Given the description of an element on the screen output the (x, y) to click on. 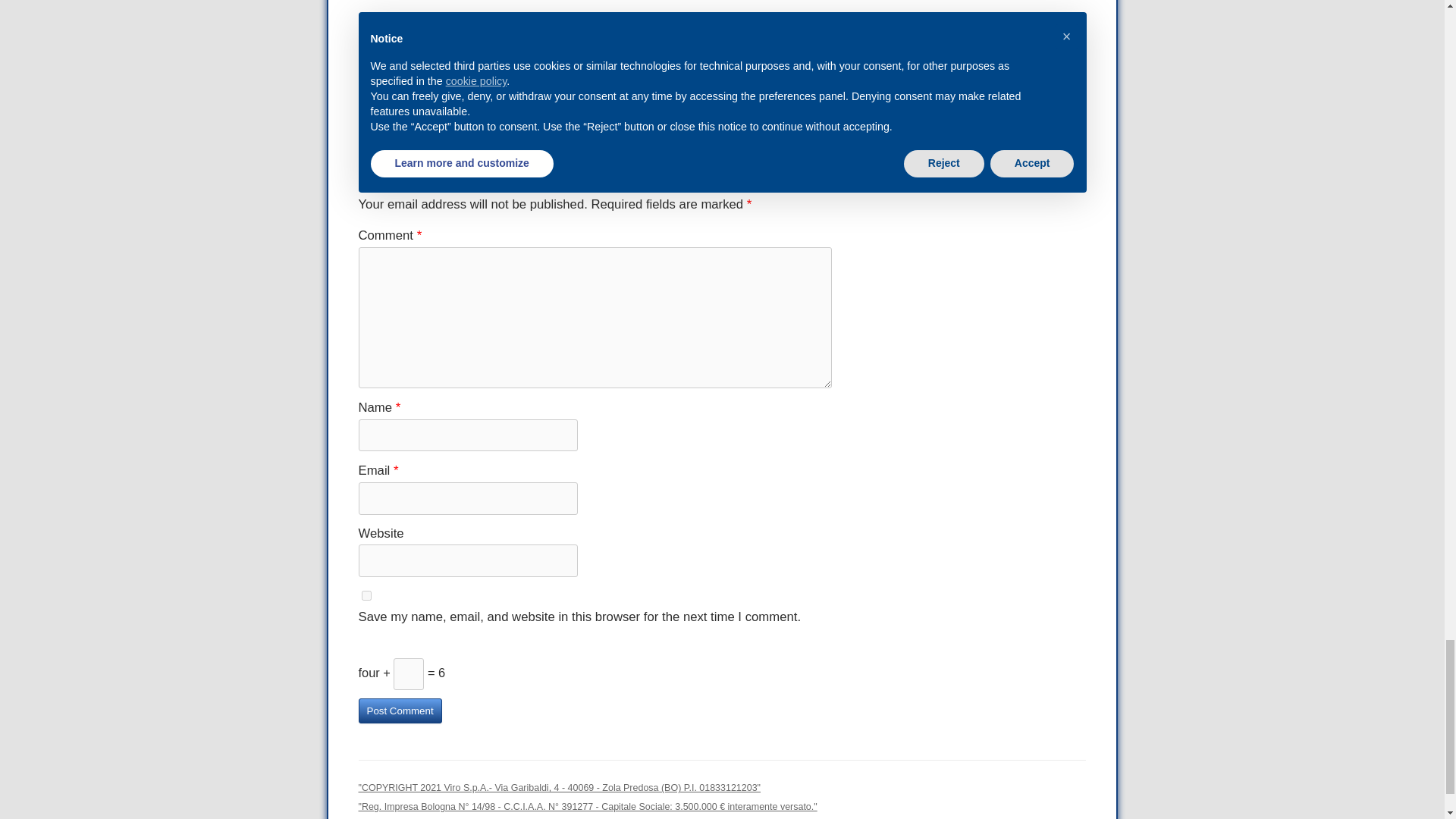
Post Comment (399, 710)
Post Comment (399, 710)
yes (366, 595)
